Given the description of an element on the screen output the (x, y) to click on. 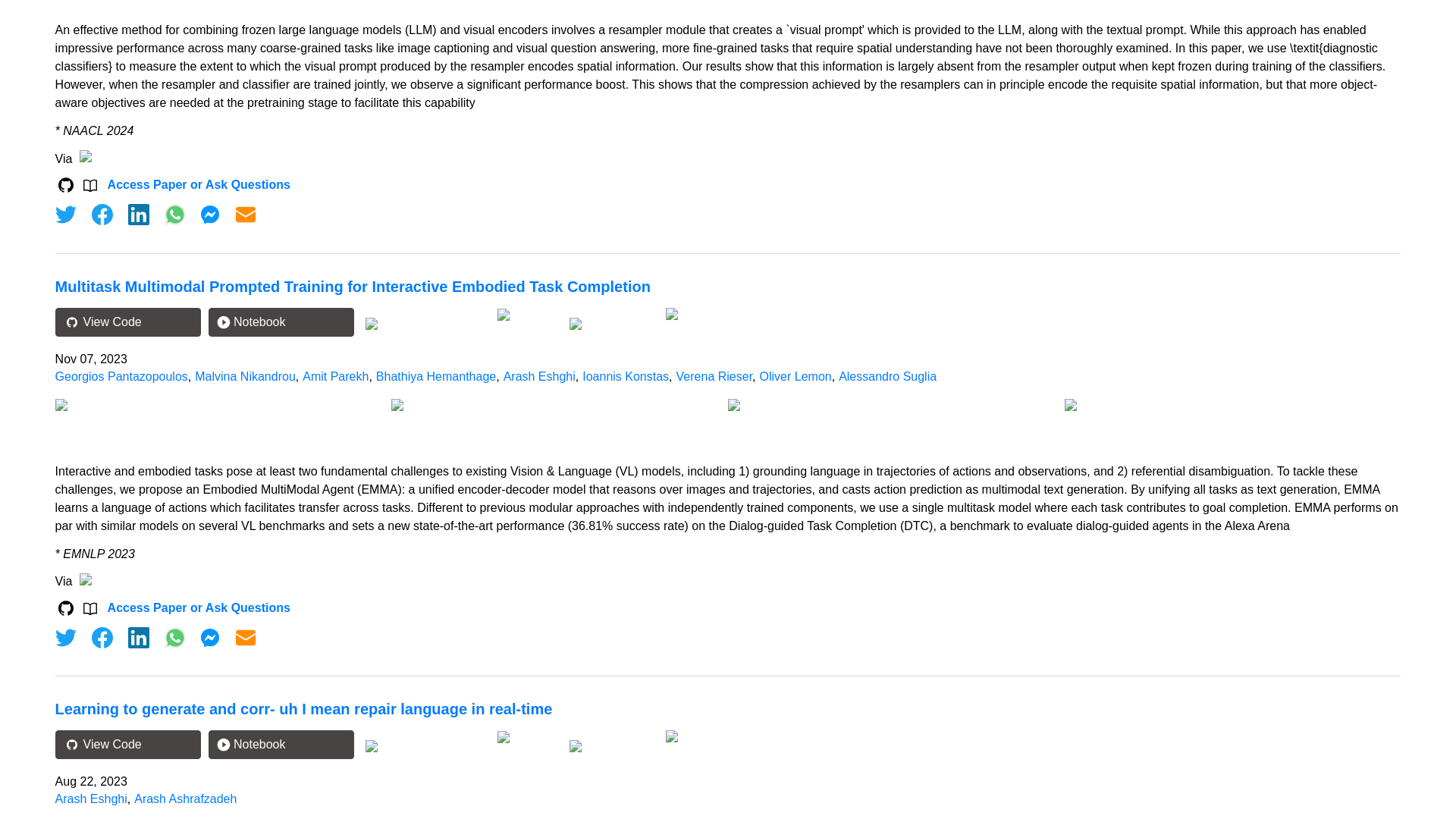
View code for similar papers (424, 323)
Share via Email (245, 214)
Bookmark this paper (612, 322)
Share via Email (245, 637)
Contribute your code for this paper to the community (528, 314)
